Given the description of an element on the screen output the (x, y) to click on. 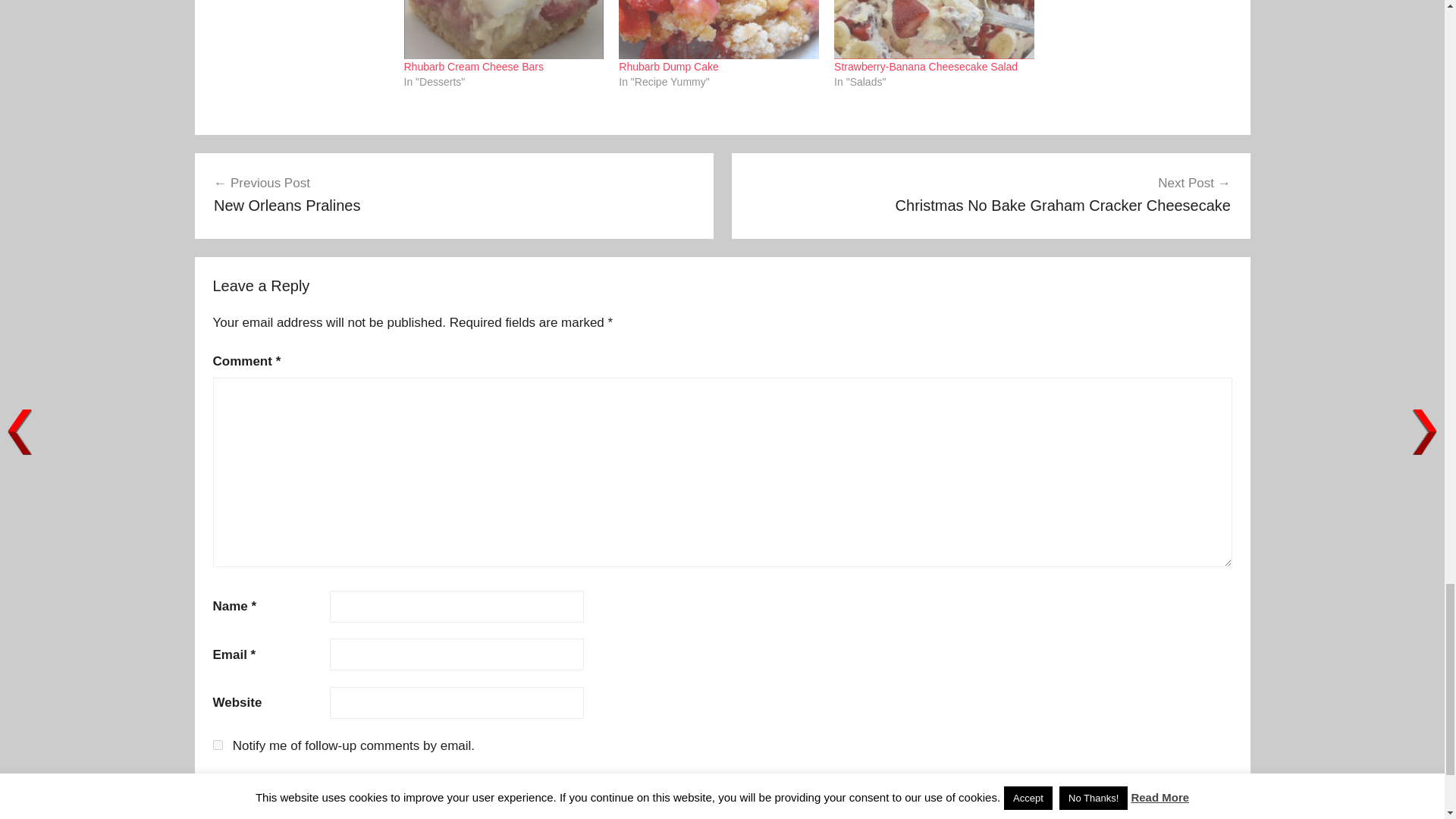
Rhubarb Cream Cheese Bars (473, 66)
Post Comment (261, 812)
Rhubarb Cream Cheese Bars (503, 29)
Rhubarb Cream Cheese Bars (454, 193)
Strawberry-Banana Cheesecake Salad (473, 66)
Rhubarb Dump Cake (925, 66)
subscribe (718, 29)
Post Comment (217, 745)
Strawberry-Banana Cheesecake Salad (990, 193)
Rhubarb Dump Cake (261, 812)
Rhubarb Dump Cake (933, 29)
Strawberry-Banana Cheesecake Salad (668, 66)
subscribe (668, 66)
